Given the description of an element on the screen output the (x, y) to click on. 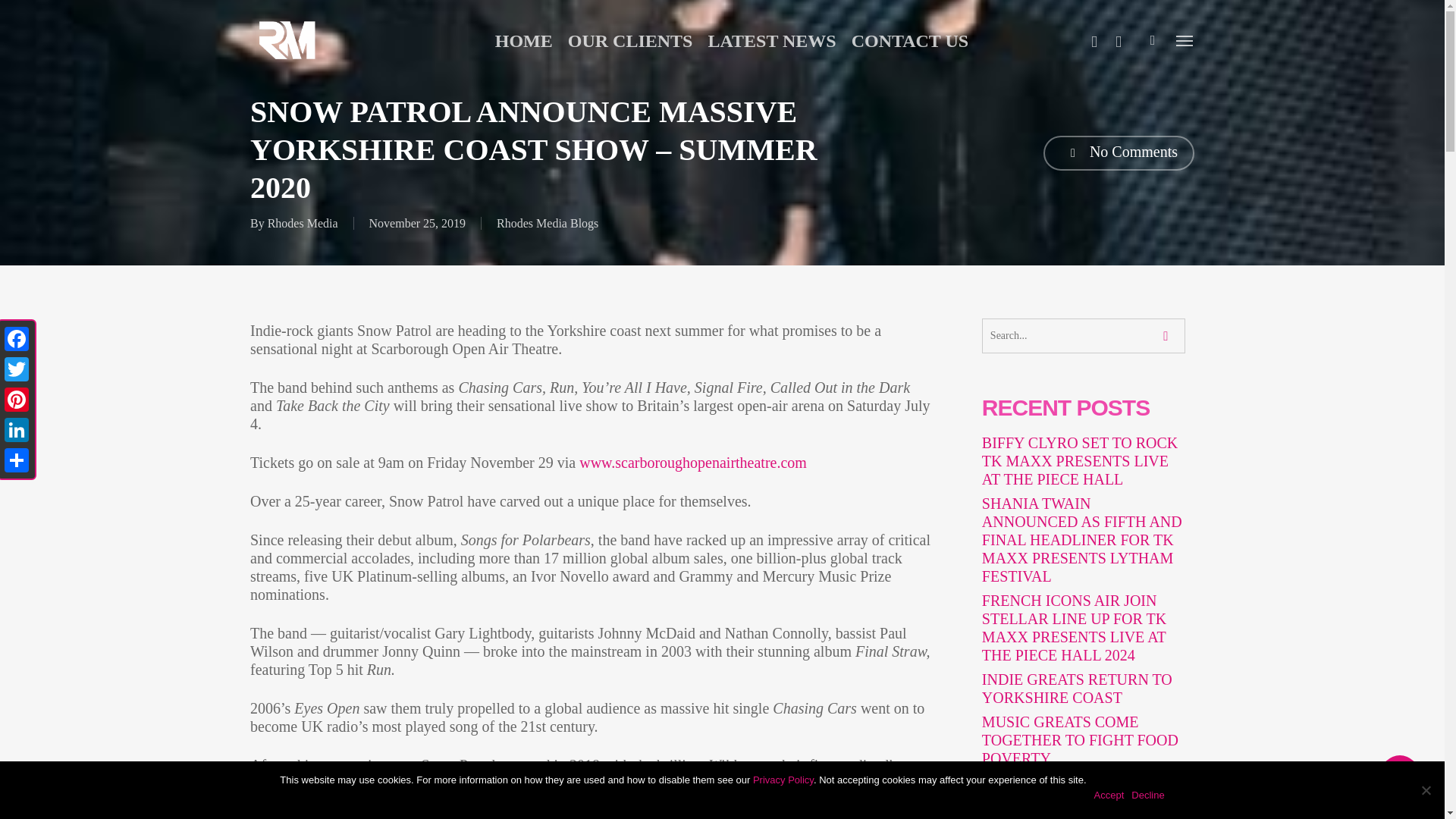
TWITTER (1094, 39)
HOME (524, 39)
Twitter (16, 368)
CONTACT US (909, 39)
LATEST NEWS (771, 39)
www.scarboroughopenairtheatre.com (692, 462)
Search for: (601, 303)
FACEBOOK (1118, 39)
search (1151, 39)
Rhodes Media Blogs (547, 223)
LinkedIn (16, 429)
OUR CLIENTS (630, 39)
